Given the description of an element on the screen output the (x, y) to click on. 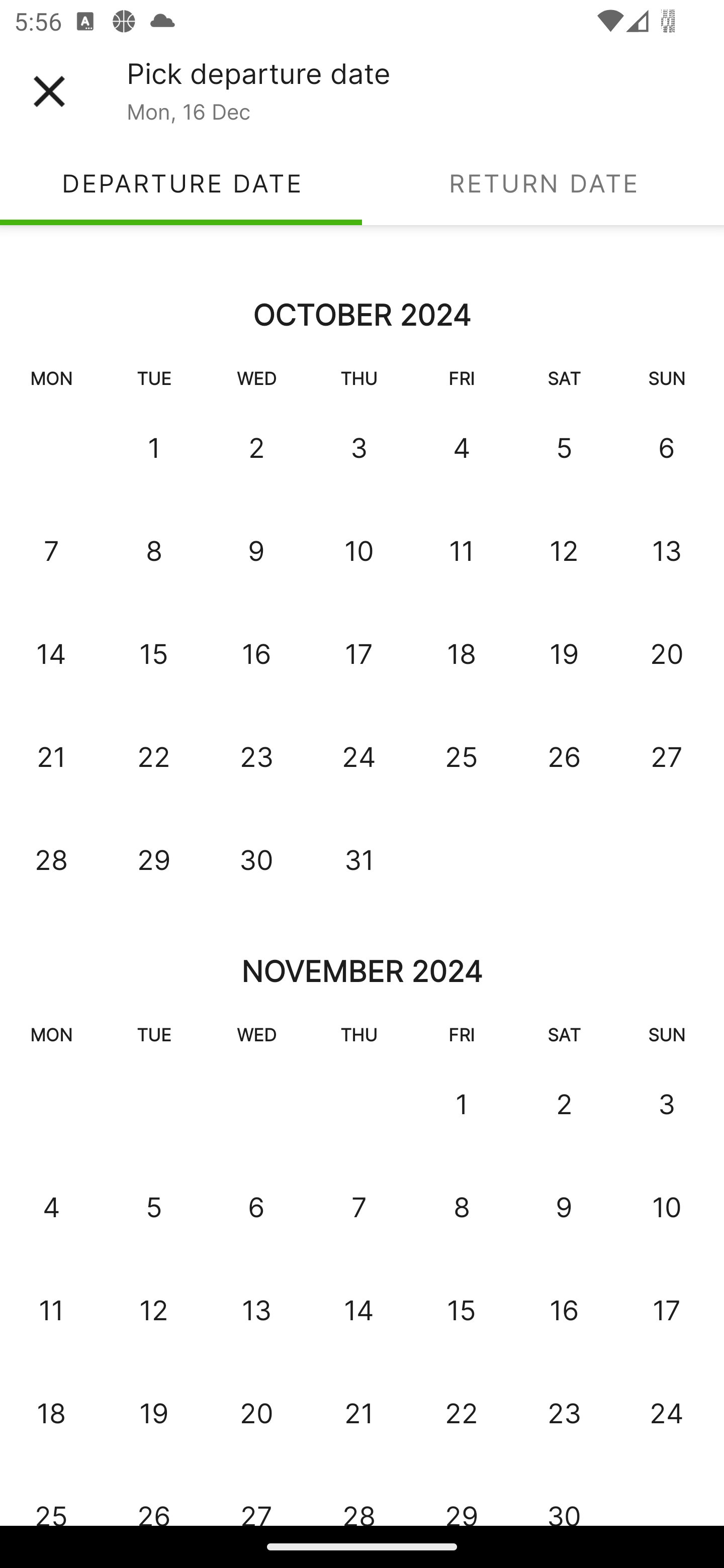
Return Date RETURN DATE (543, 183)
